Given the description of an element on the screen output the (x, y) to click on. 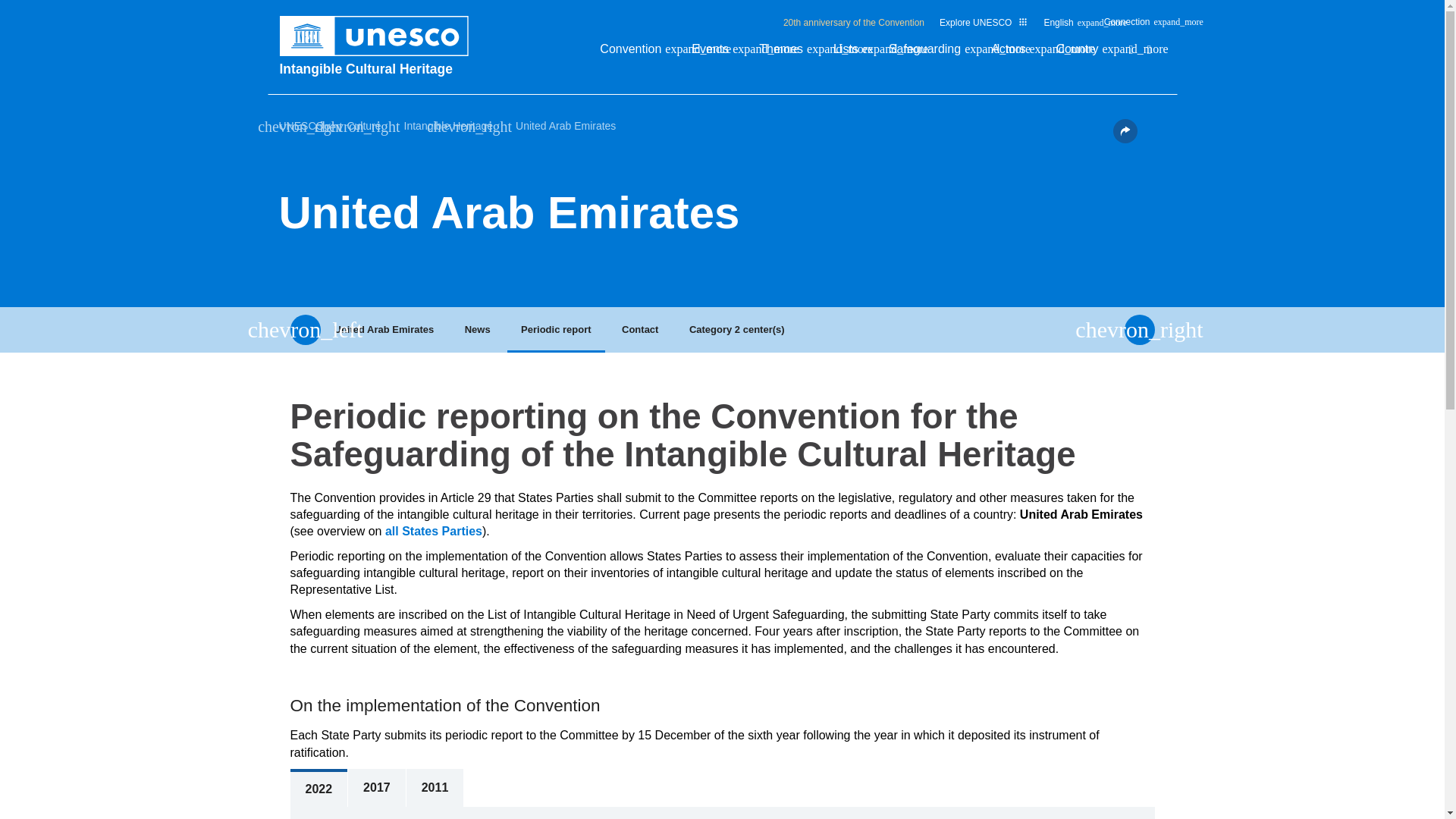
English (1065, 26)
20th anniversary of the Convention (853, 22)
Events (717, 52)
Convention (638, 52)
Actors (1016, 52)
Country (1084, 52)
English (1065, 26)
Safeguarding (931, 52)
Intangible Cultural Heritage (381, 68)
Events (717, 52)
Connection (1134, 26)
Convention (638, 52)
Lists (852, 52)
Themes (788, 52)
Link to UNESCO portal (381, 35)
